Given the description of an element on the screen output the (x, y) to click on. 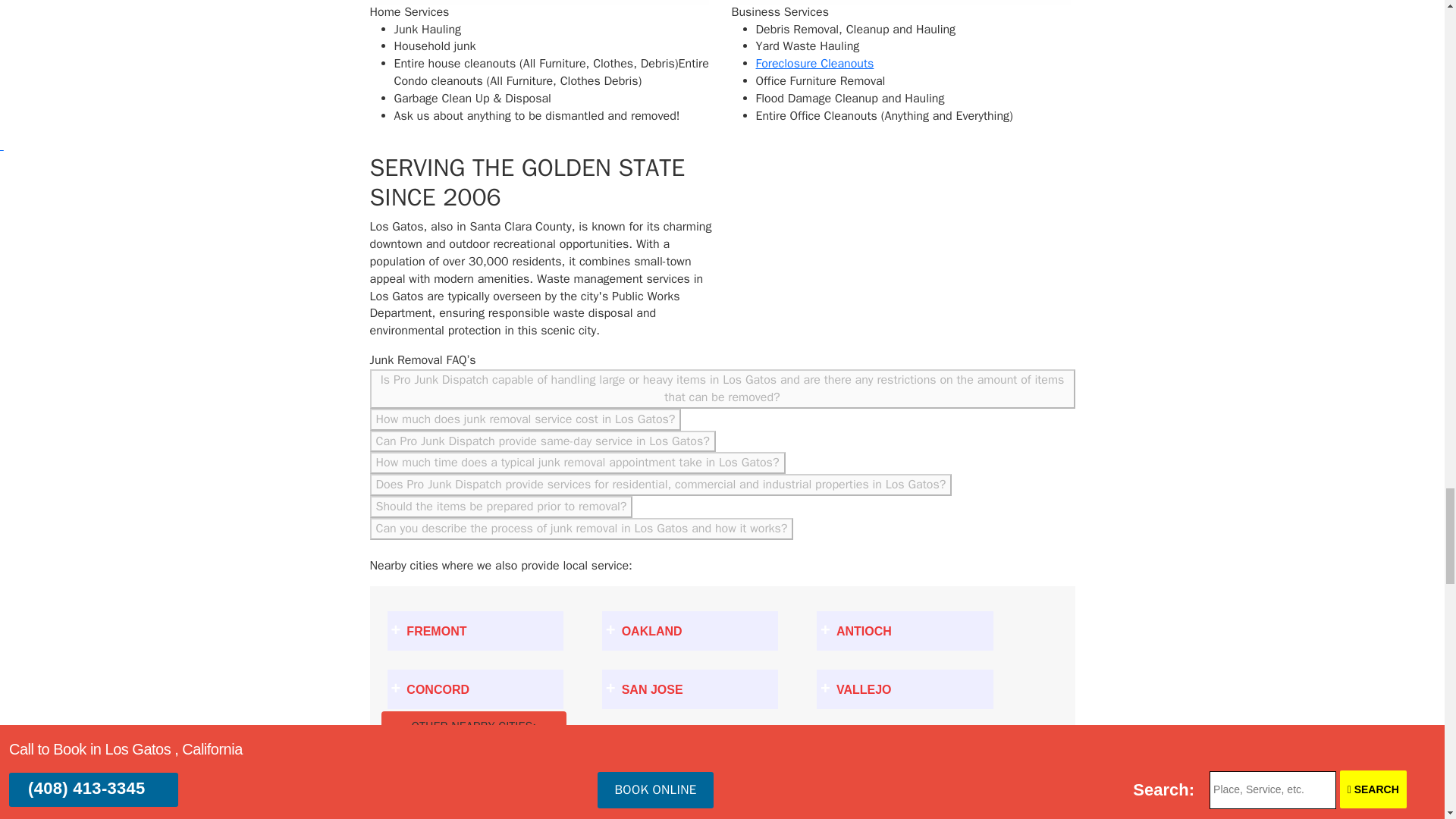
Santa Clara County, CA - City of San Jose (690, 689)
How much does junk removal service cost in Los Gatos? (525, 419)
Contra Costa County, CA - City of Antioch (904, 630)
Alameda County, CA - City of Fremont (475, 630)
Foreclosure Cleanouts (814, 63)
Contra Costa County, CA - City of Concord (475, 689)
Alameda County, CA - City of Oakland (690, 630)
Solano County, CA - City of Vallejo (904, 689)
